Given the description of an element on the screen output the (x, y) to click on. 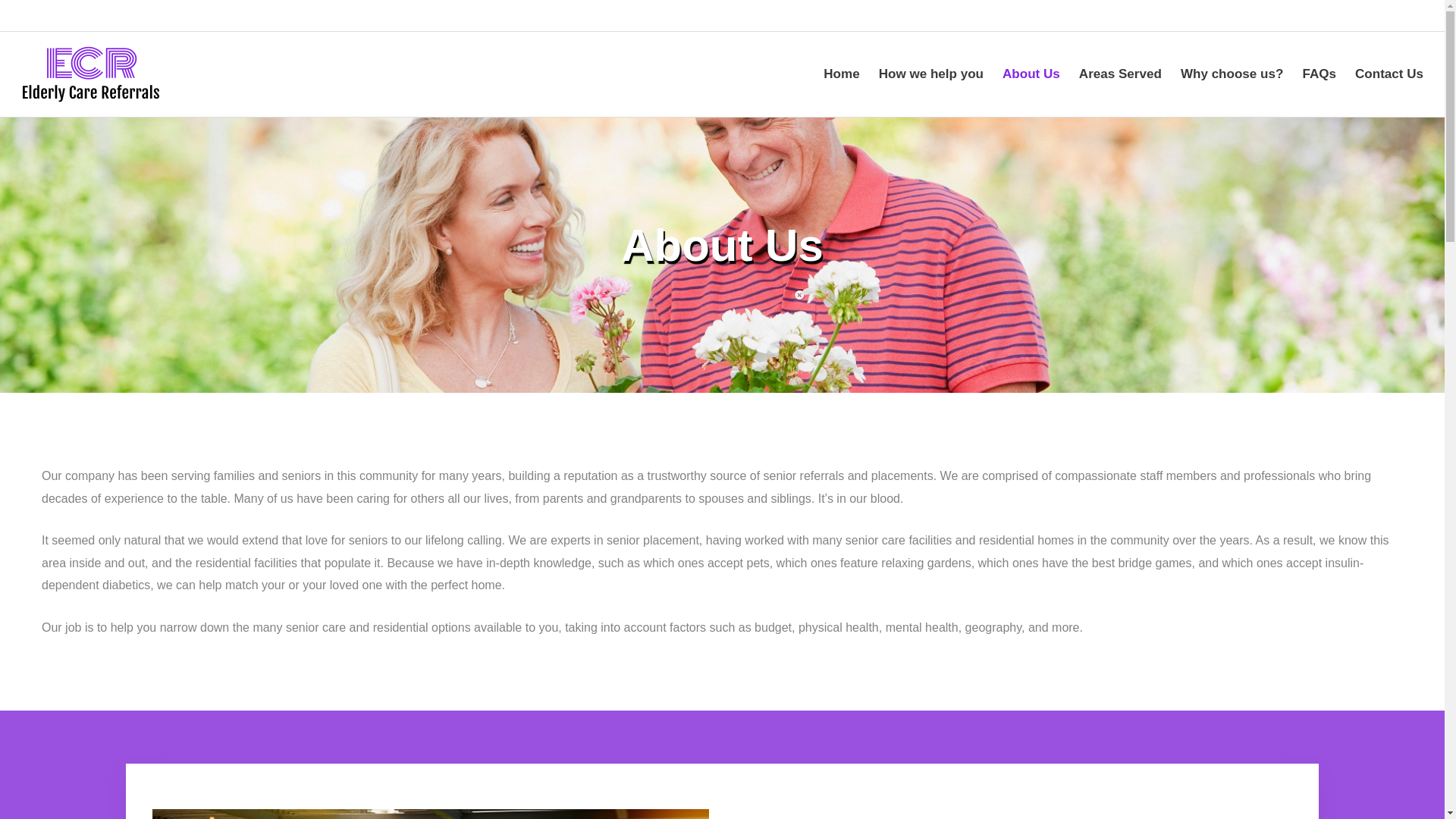
How we help you (928, 74)
Areas Served (1116, 74)
About Us (1027, 74)
Why choose us? (1228, 74)
Contact Us (1385, 74)
